Given the description of an element on the screen output the (x, y) to click on. 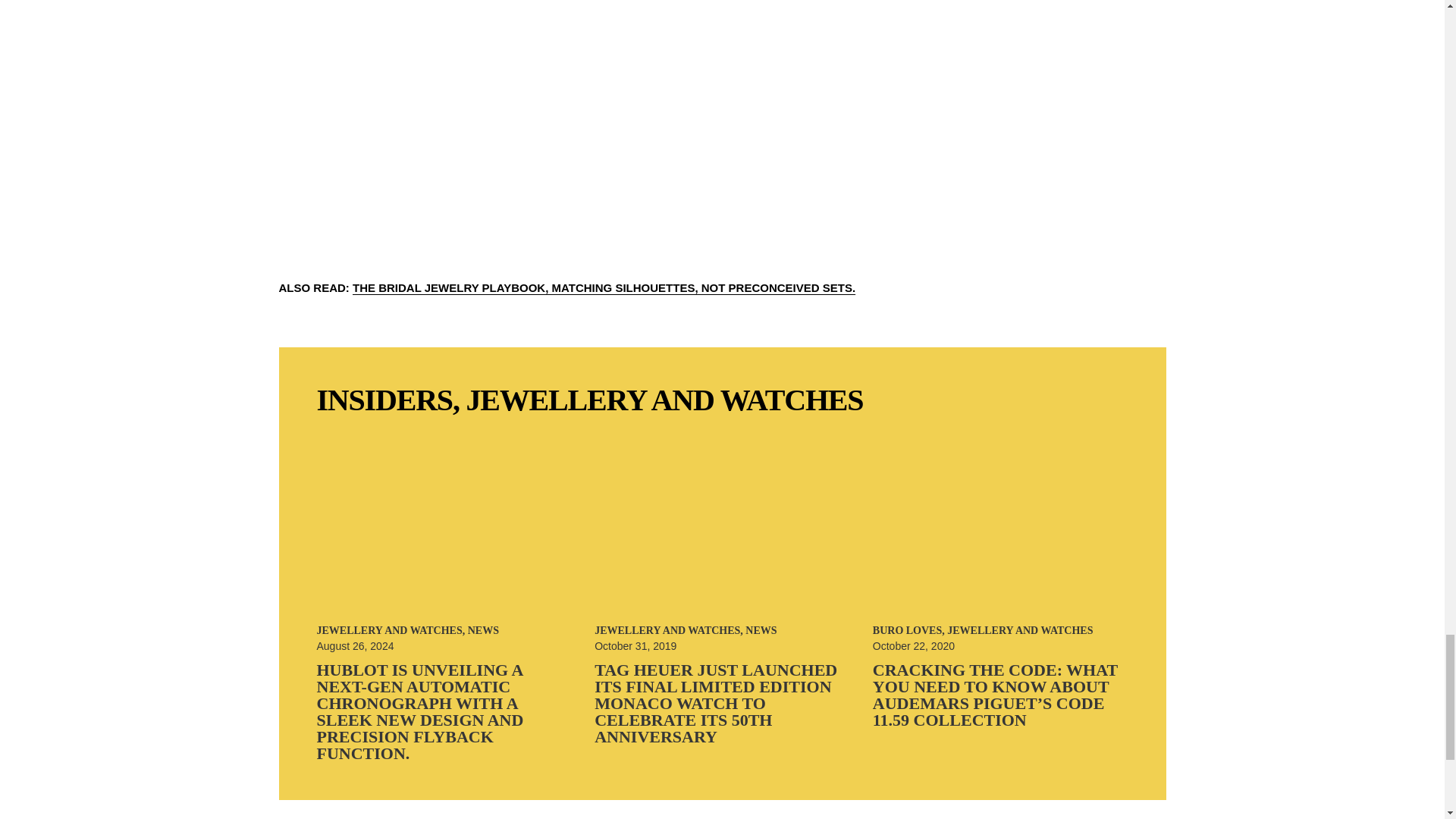
JEWELLERY AND WATCHES (664, 399)
INSIDERS (384, 399)
JEWELLERY AND WATCHES (390, 630)
NEWS (483, 630)
